Given the description of an element on the screen output the (x, y) to click on. 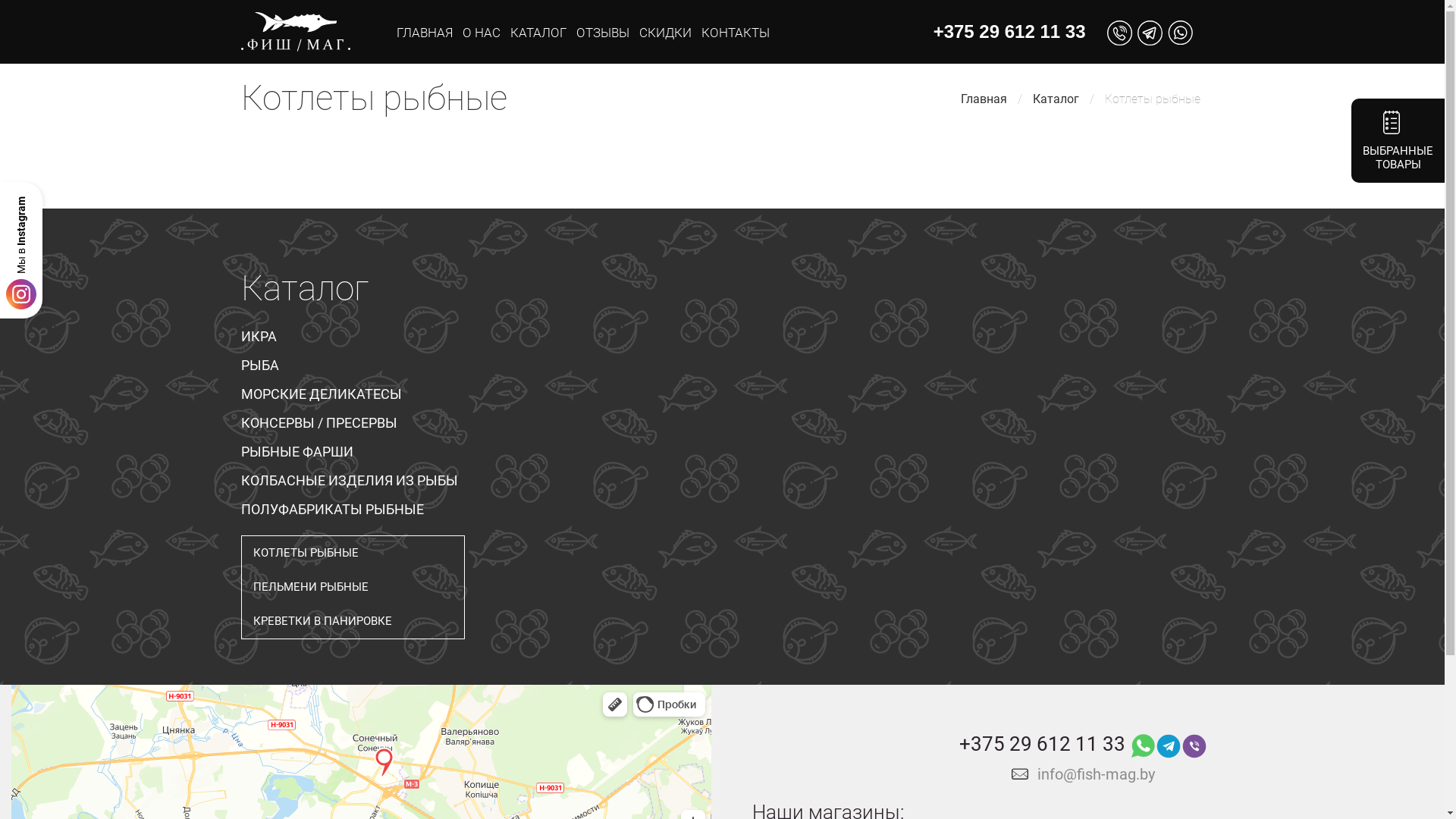
+375 29 612 11 33 Element type: text (1042, 749)
+375 29 612 11 33 Element type: text (1009, 31)
info@fish-mag.by Element type: text (1095, 774)
